Given the description of an element on the screen output the (x, y) to click on. 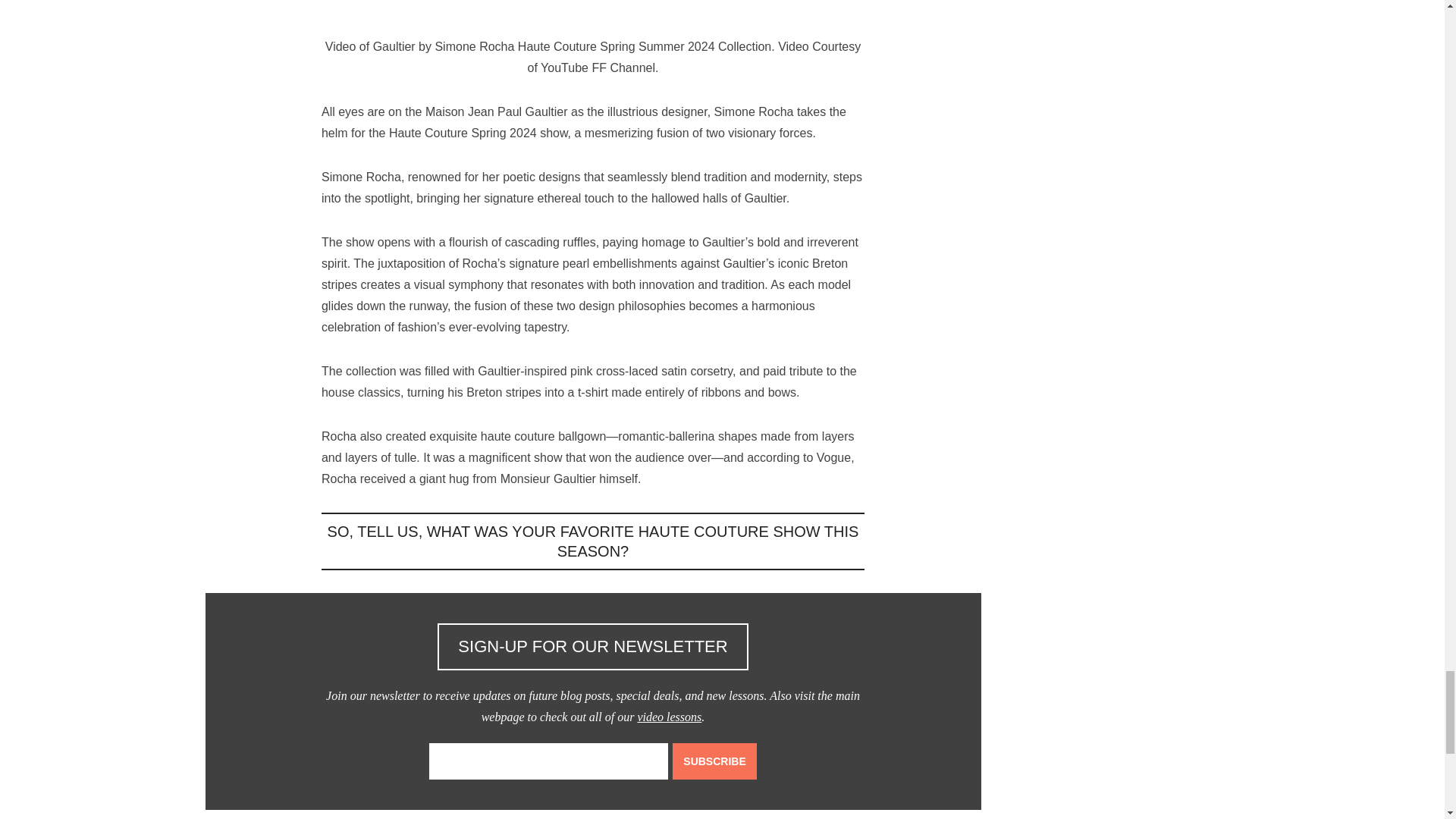
Subscribe (713, 760)
